Given the description of an element on the screen output the (x, y) to click on. 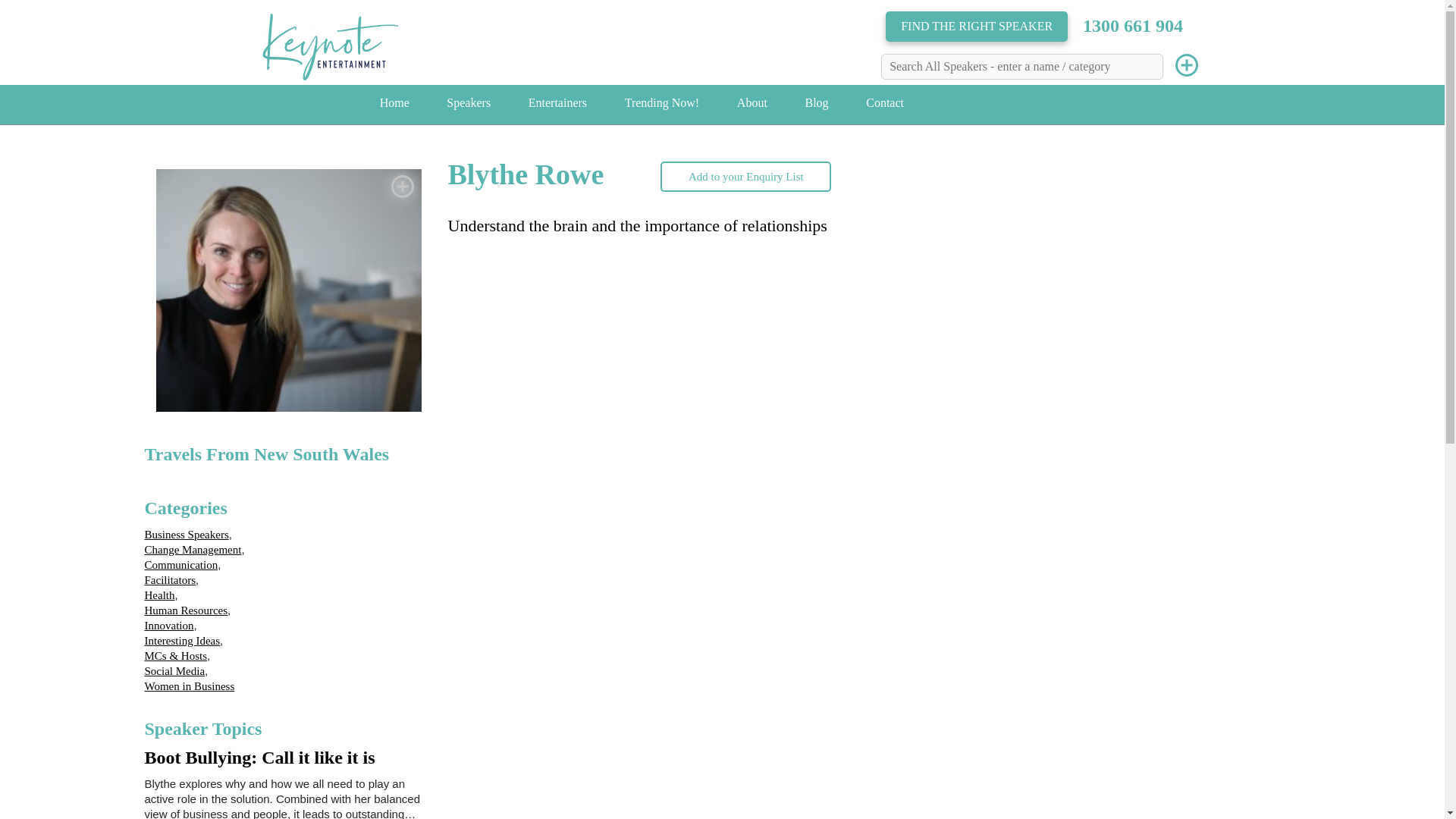
Health (159, 594)
Interesting Ideas (181, 640)
1300 661 904 (1132, 25)
Add to your Enquiry List (746, 176)
FIND THE RIGHT SPEAKER (976, 26)
Add to Enquiry List (402, 186)
Social Media (174, 671)
FIND THE RIGHT SPEAKER (976, 26)
Women in Business (189, 686)
About (752, 103)
